Given the description of an element on the screen output the (x, y) to click on. 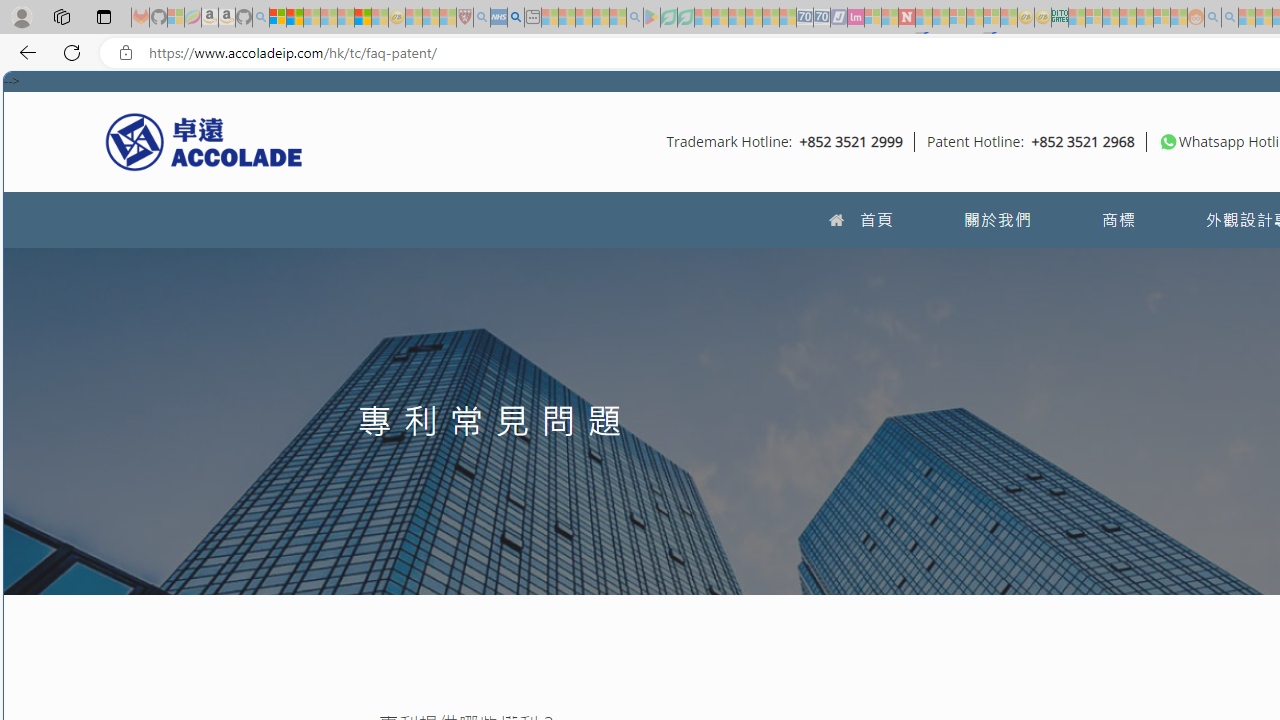
Accolade IP HK Logo (203, 141)
